Given the description of an element on the screen output the (x, y) to click on. 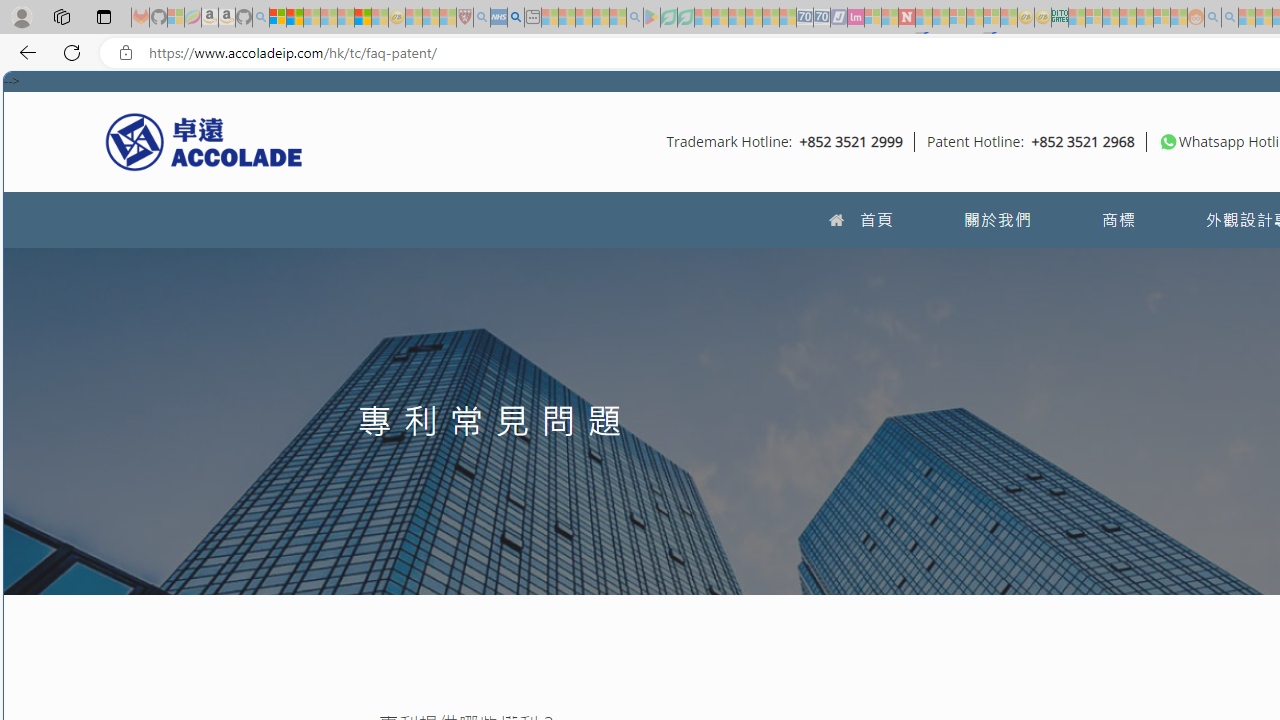
Accolade IP HK Logo (203, 141)
